Given the description of an element on the screen output the (x, y) to click on. 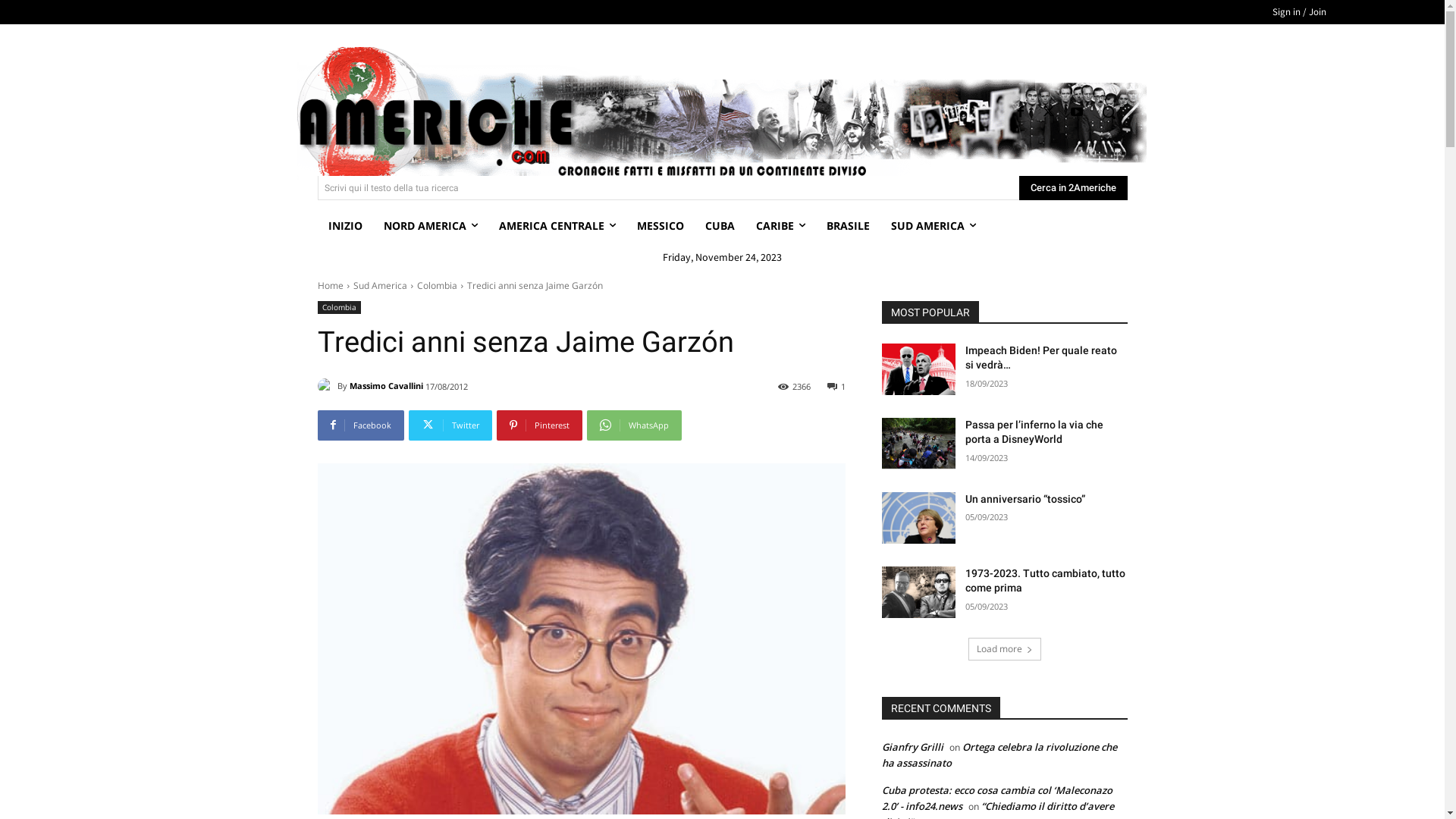
AMERICA CENTRALE Element type: text (557, 225)
Load more Element type: text (1003, 648)
CUBA Element type: text (719, 225)
Colombia Element type: text (338, 307)
Home Element type: text (329, 285)
BRASILE Element type: text (847, 225)
CARIBE Element type: text (779, 225)
Cerca in 2Americhe Element type: text (1073, 187)
1973-2023. Tutto cambiato, tutto come prima Element type: text (1045, 580)
WhatsApp Element type: text (633, 425)
Sign in / Join Element type: text (1299, 11)
Twitter Element type: hover (1048, 111)
Ortega celebra la rivoluzione che ha assassinato Element type: text (998, 754)
1 Element type: text (835, 385)
Facebook Element type: hover (1020, 111)
Youtube Element type: hover (1076, 111)
Facebook Element type: text (359, 425)
NORD AMERICA Element type: text (430, 225)
1973-2023. Tutto cambiato, tutto come prima Element type: hover (917, 592)
Sud America Element type: text (380, 285)
MESSICO Element type: text (660, 225)
Massimo Cavallini Element type: hover (326, 385)
Gianfry Grilli Element type: text (911, 746)
Twitter Element type: text (449, 425)
Colombia Element type: text (437, 285)
Pinterest Element type: text (538, 425)
INIZIO Element type: text (344, 225)
SUD AMERICA Element type: text (932, 225)
Massimo Cavallini Element type: text (385, 385)
